Given the description of an element on the screen output the (x, y) to click on. 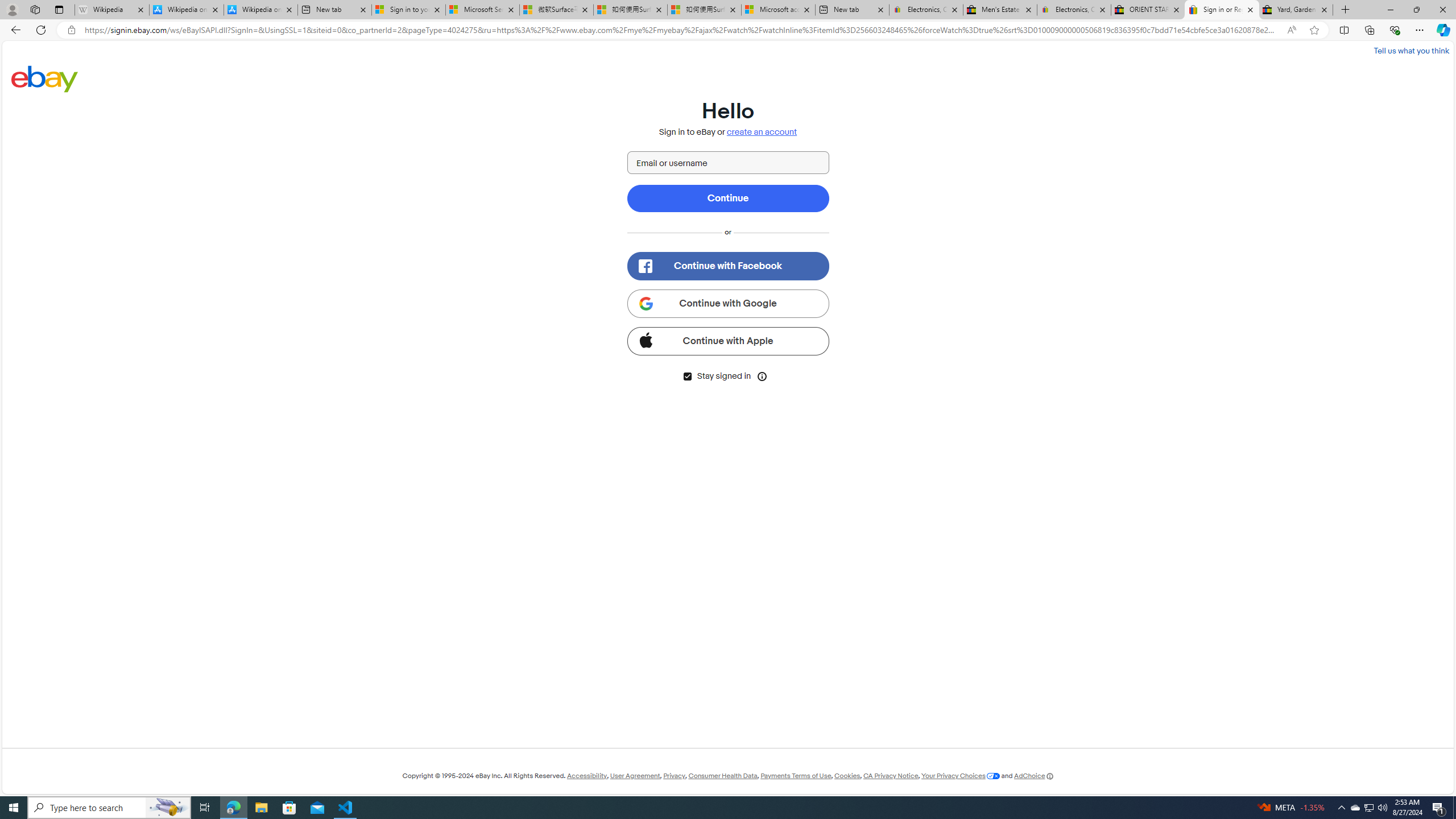
Class: ggl-icon (645, 303)
Your Privacy Choices (960, 775)
create an account (761, 131)
Microsoft account | Account Checkup (777, 9)
Continue (727, 198)
